Given the description of an element on the screen output the (x, y) to click on. 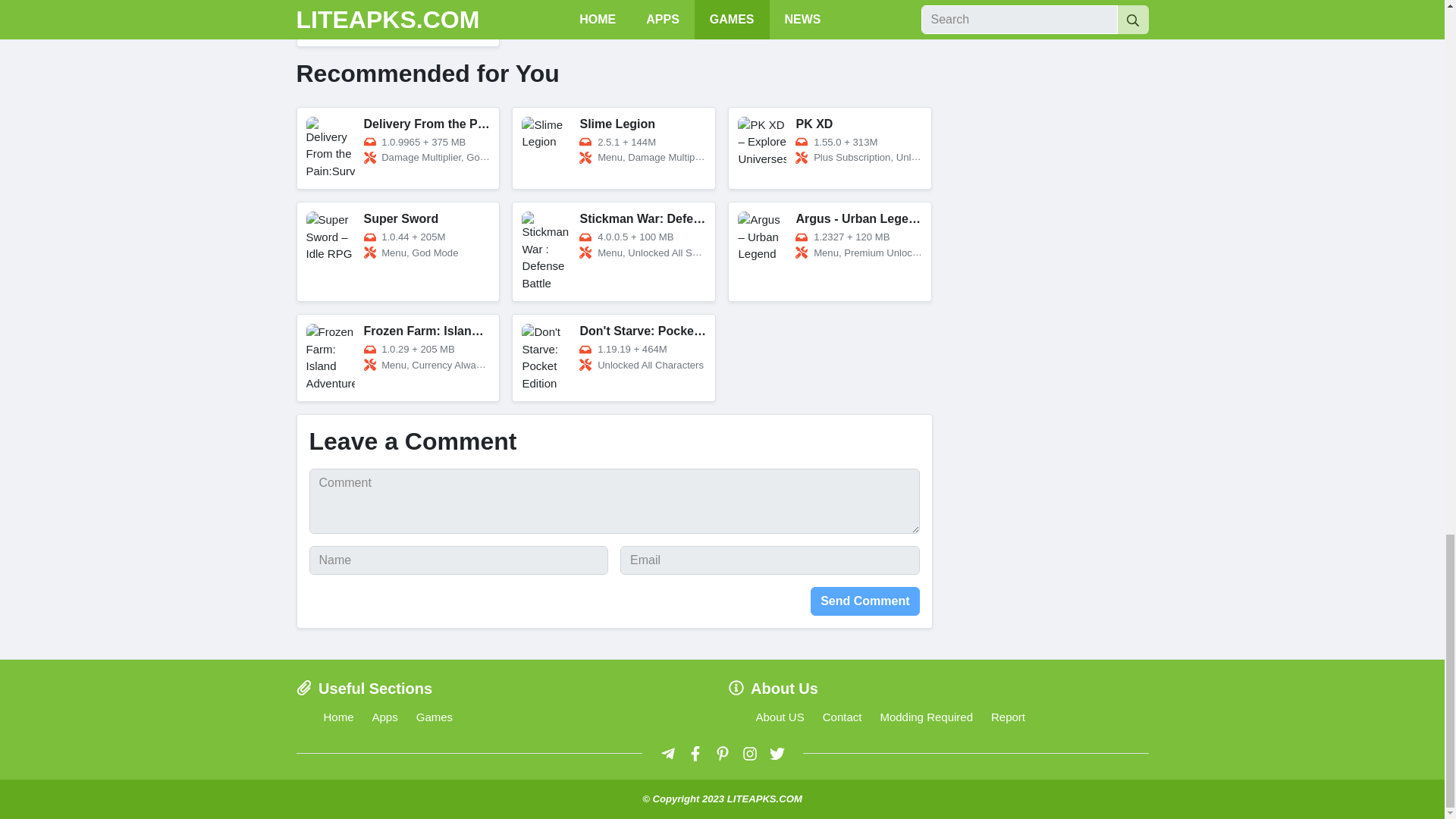
Super Sword (397, 251)
Delivery From the Pain: Survive (397, 148)
Love Unlocked: Your Stories (397, 23)
Frozen Farm: Island Adventure (397, 357)
PK XD (829, 148)
Slime Legion (614, 148)
Stickman War : Defense Battle (614, 251)
